Given the description of an element on the screen output the (x, y) to click on. 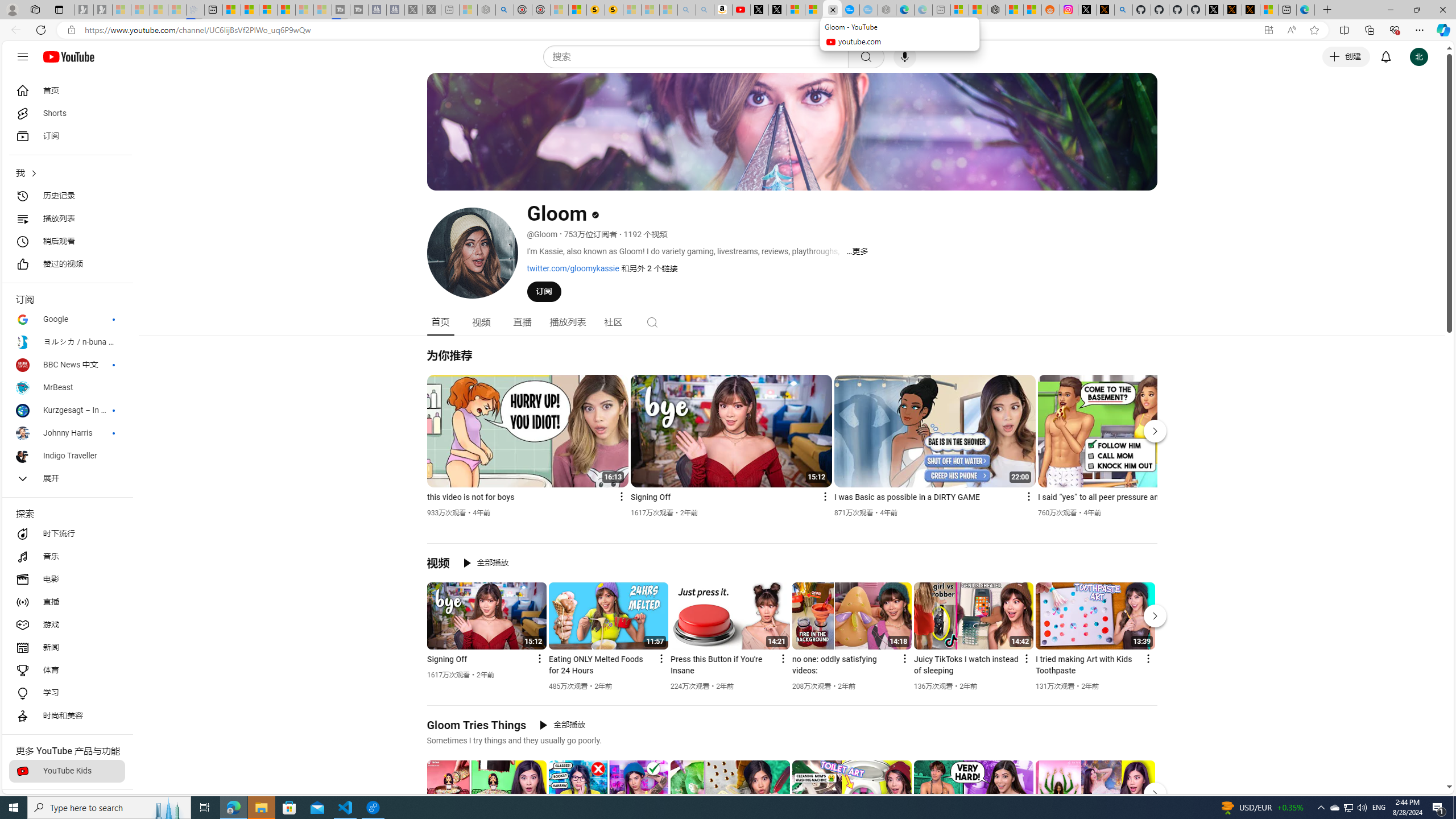
New tab - Sleeping (941, 9)
Shanghai, China Weather trends | Microsoft Weather (1032, 9)
Log in to X / X (1086, 9)
The most popular Google 'how to' searches - Sleeping (868, 9)
Collections (1369, 29)
Nordace - Duffels (996, 9)
Address and search bar (669, 29)
Amazon Echo Dot PNG - Search Images - Sleeping (705, 9)
View site information (70, 29)
